Given the description of an element on the screen output the (x, y) to click on. 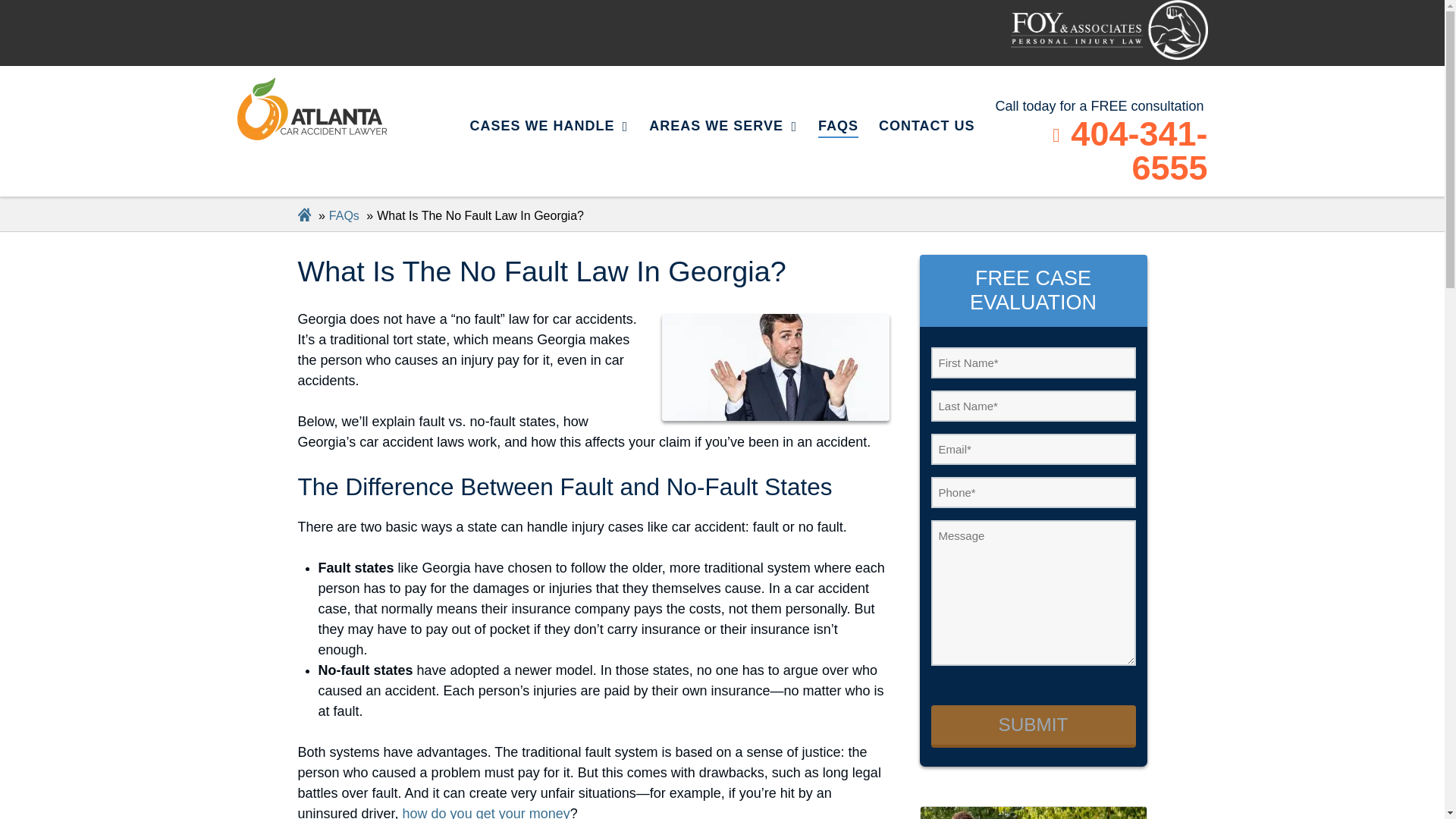
CASES WE HANDLE (549, 126)
Atlanta Car Accident Lawyer (1108, 29)
Submit (1033, 726)
